Given the description of an element on the screen output the (x, y) to click on. 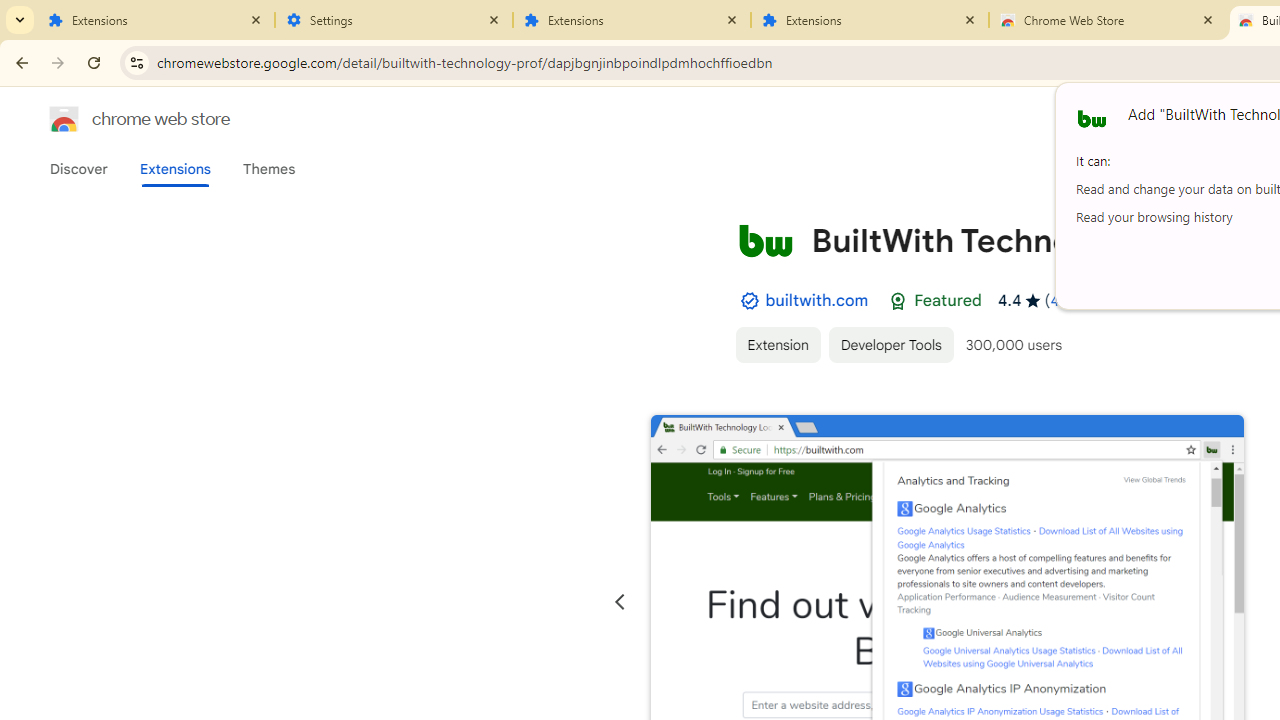
Chrome Web Store (1108, 20)
Item logo image for BuiltWith Technology Profiler (765, 240)
Extensions (632, 20)
Previous slide (619, 601)
Extension (777, 344)
Discover (79, 169)
Featured Badge (898, 301)
Developer Tools (890, 344)
Chrome Web Store logo chrome web store (118, 118)
Settings (394, 20)
Extensions (174, 169)
